Given the description of an element on the screen output the (x, y) to click on. 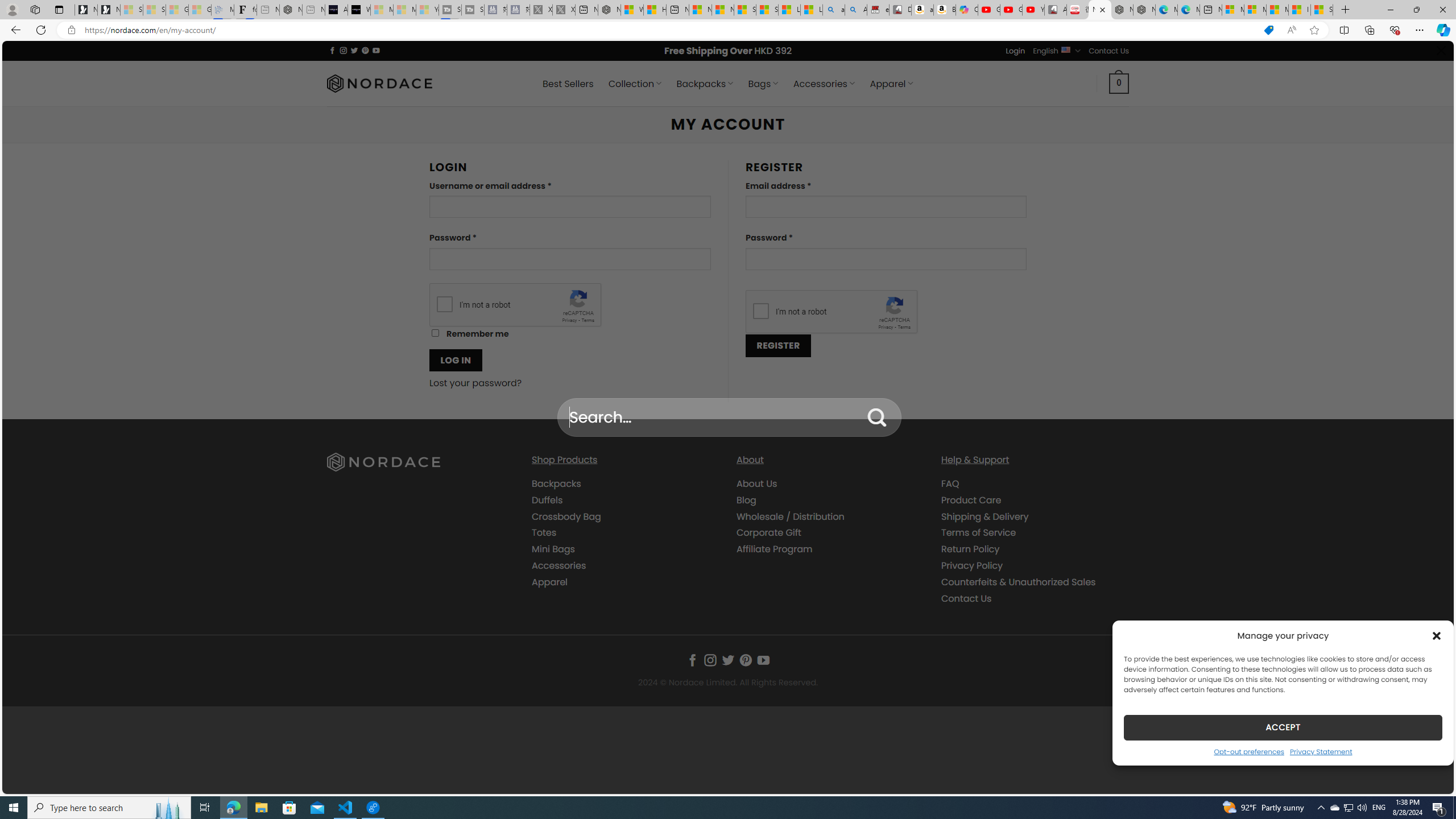
What's the best AI voice generator? - voice.ai (359, 9)
Nordace - My Account (1099, 9)
Amazon Echo Dot PNG - Search Images (856, 9)
All Cubot phones (1055, 9)
This site has coupons! Shopping in Microsoft Edge (1268, 29)
Lost your password? (475, 382)
Accessories (625, 565)
X - Sleeping (563, 9)
Follow on Twitter (727, 659)
Duffels (625, 499)
